Given the description of an element on the screen output the (x, y) to click on. 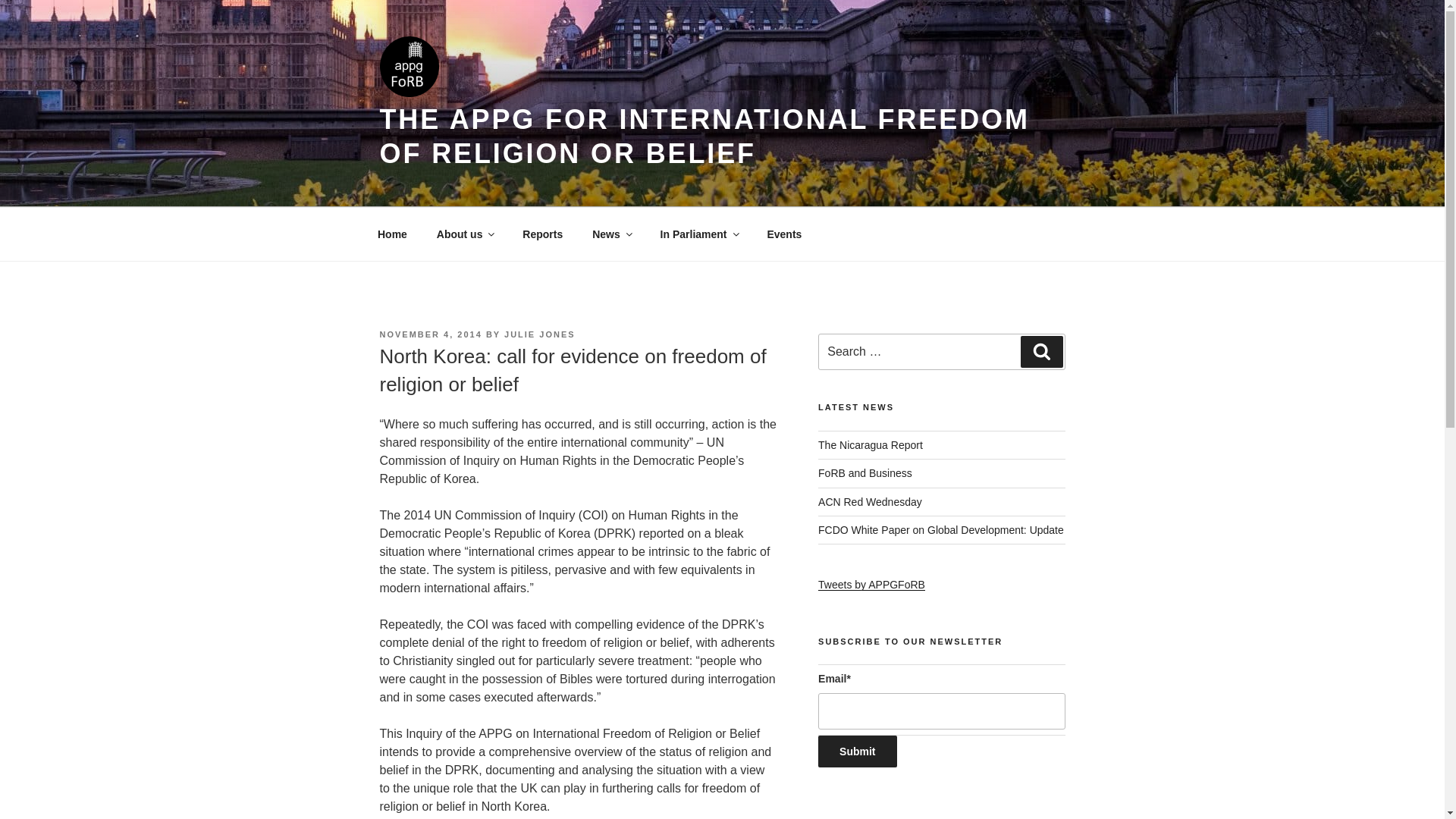
Submit (857, 751)
About us (464, 233)
Submit (857, 751)
News (612, 233)
THE APPG FOR INTERNATIONAL FREEDOM OF RELIGION OR BELIEF (703, 136)
JULIE JONES (539, 334)
The Nicaragua Report (870, 444)
ACN Red Wednesday (869, 501)
Home (392, 233)
Tweets by APPGFoRB (871, 584)
Events (784, 233)
Reports (542, 233)
FoRB and Business (865, 472)
In Parliament (698, 233)
NOVEMBER 4, 2014 (429, 334)
